Given the description of an element on the screen output the (x, y) to click on. 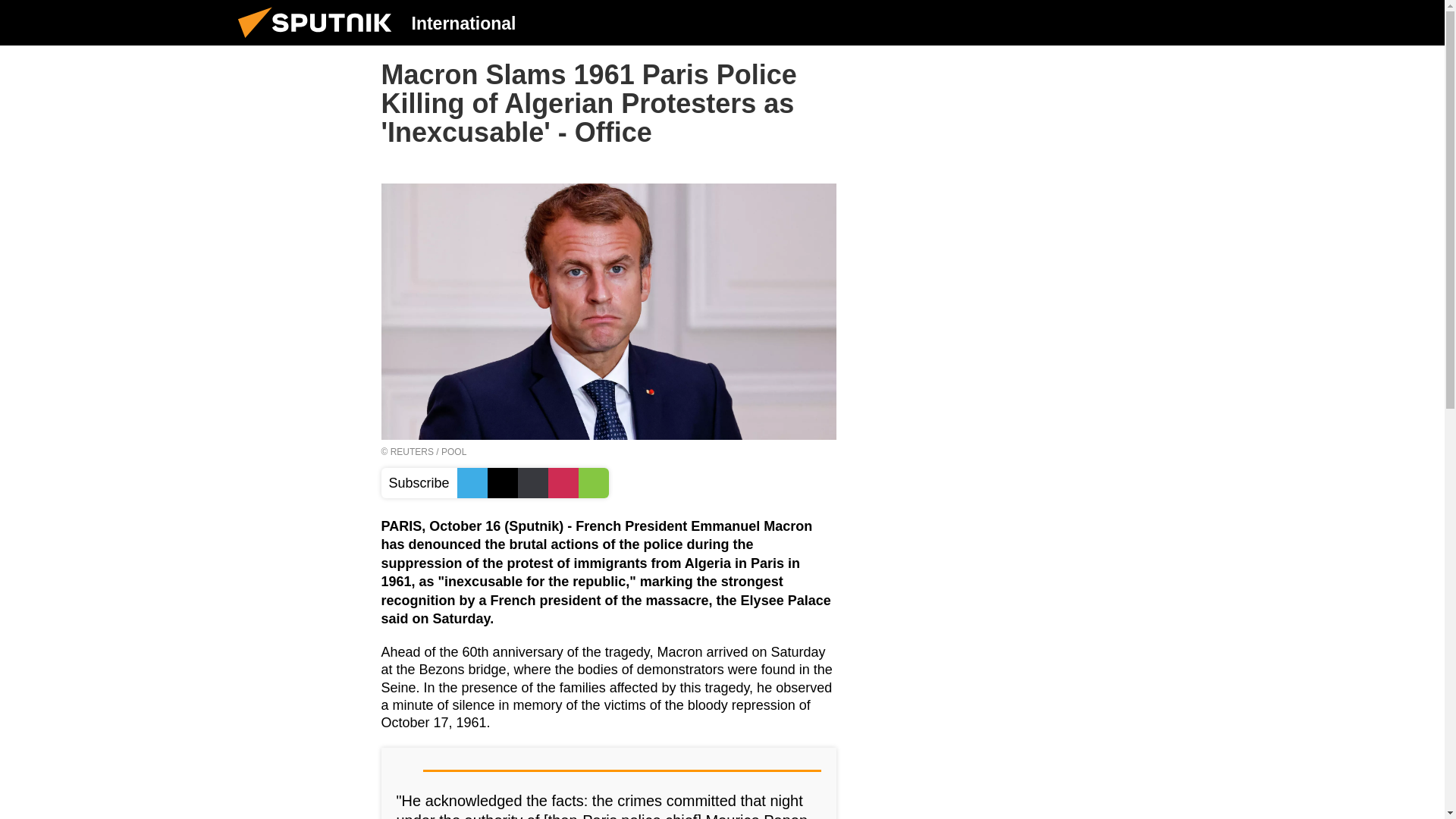
Authorization (1123, 22)
Sputnik International (319, 41)
Chats (1199, 22)
